Given the description of an element on the screen output the (x, y) to click on. 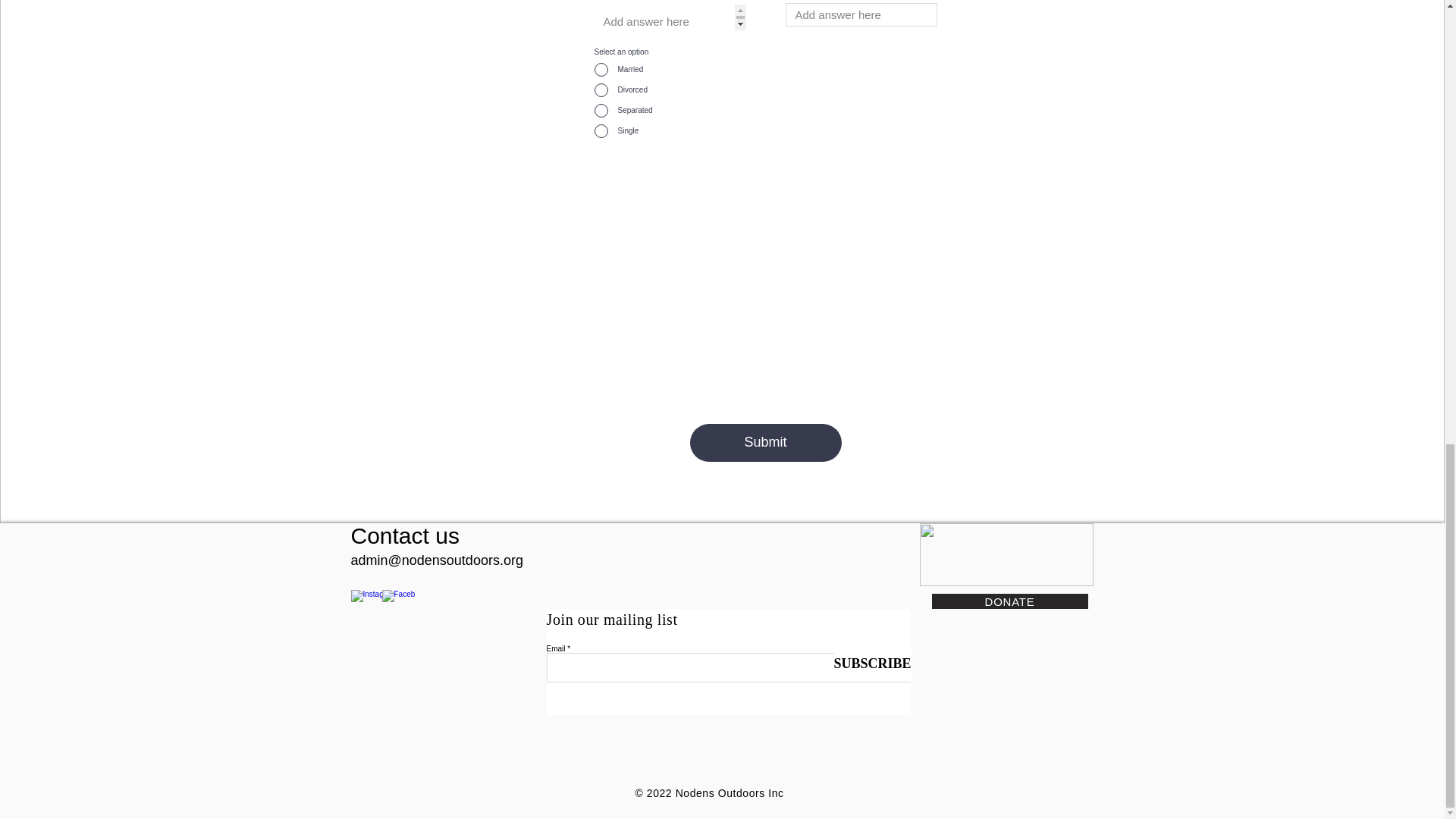
SUBSCRIBE (872, 663)
Submit (765, 442)
DONATE (1009, 601)
